Given the description of an element on the screen output the (x, y) to click on. 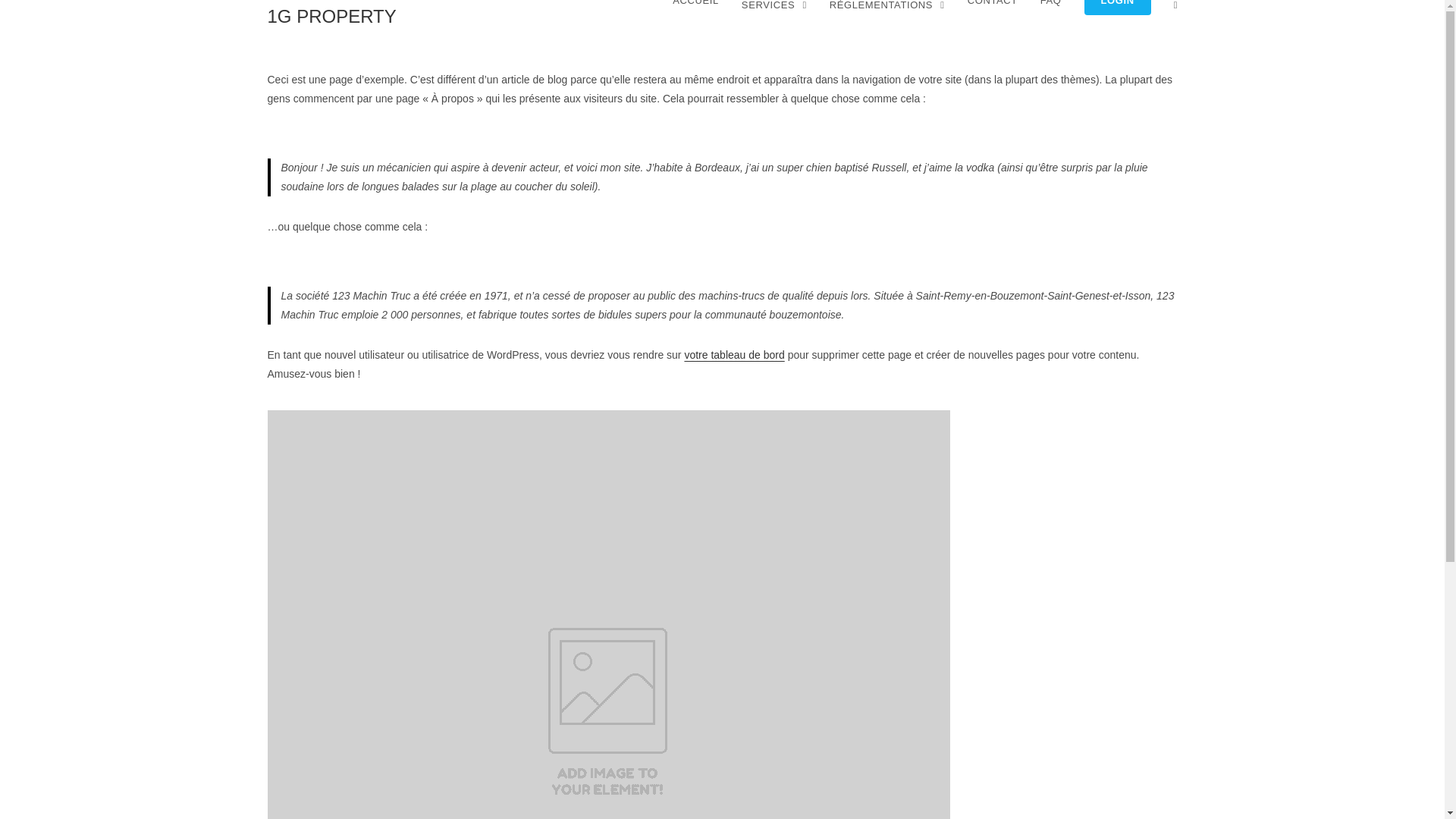
LOGIN Element type: text (1117, 0)
votre tableau de bord Element type: text (734, 354)
1G PROPERTY Element type: text (330, 16)
FAQ Element type: text (1051, 0)
SERVICES Element type: text (774, 4)
ACCUEIL Element type: text (695, 0)
CONTACT Element type: text (992, 0)
